Given the description of an element on the screen output the (x, y) to click on. 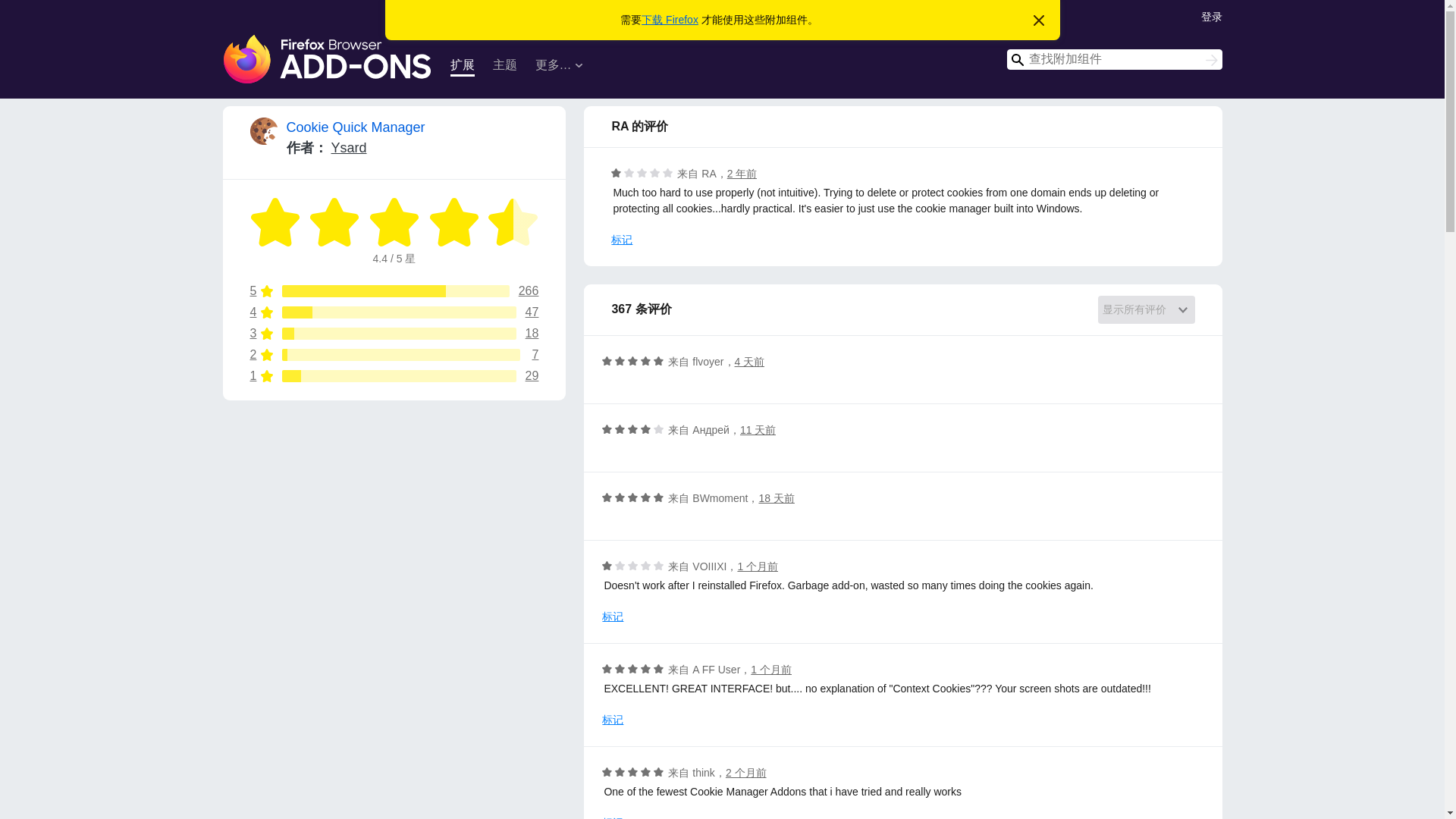
Ysard (394, 333)
Cookie Quick Manager (394, 354)
